Given the description of an element on the screen output the (x, y) to click on. 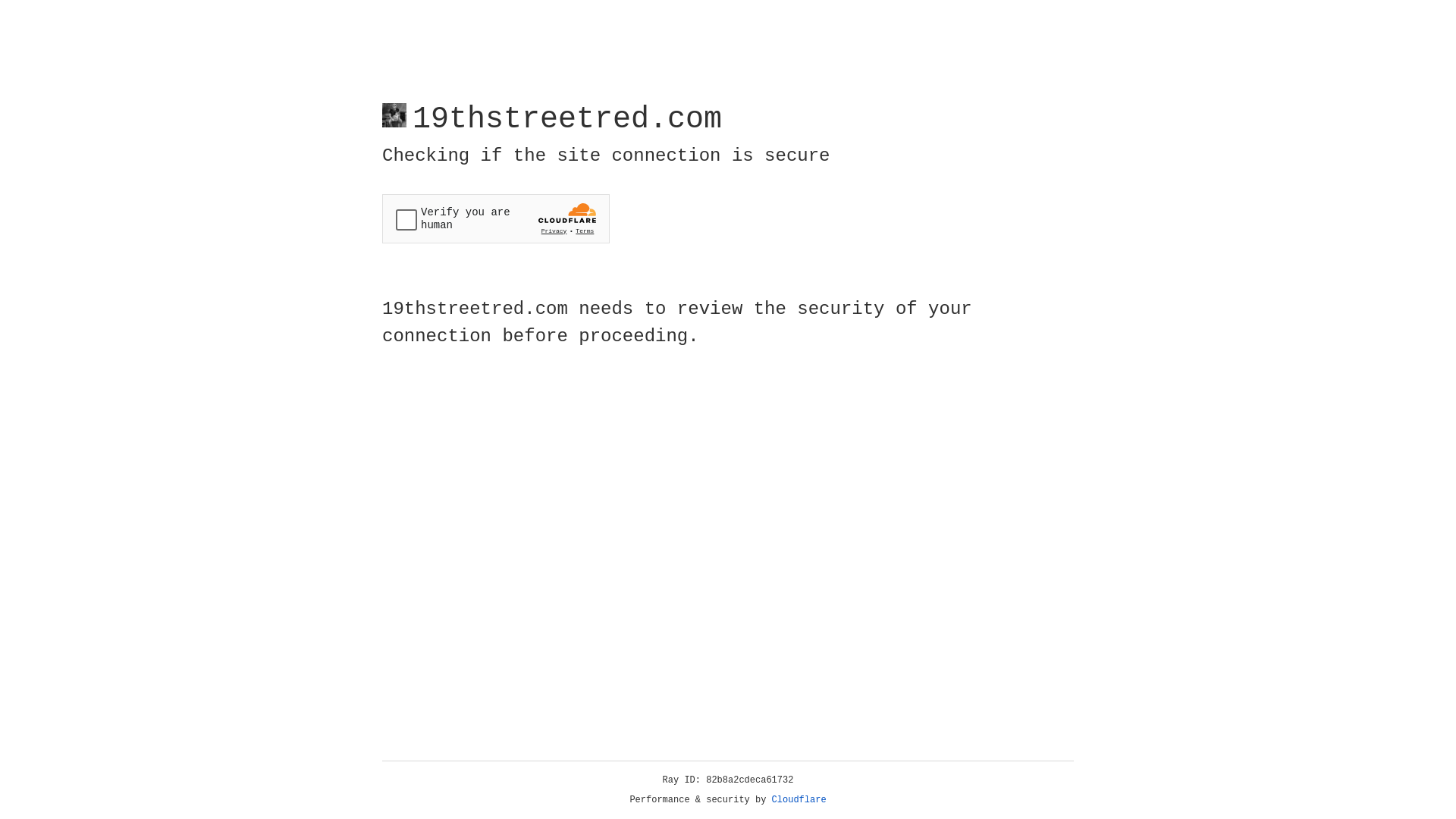
Widget containing a Cloudflare security challenge Element type: hover (495, 218)
Cloudflare Element type: text (798, 799)
